Given the description of an element on the screen output the (x, y) to click on. 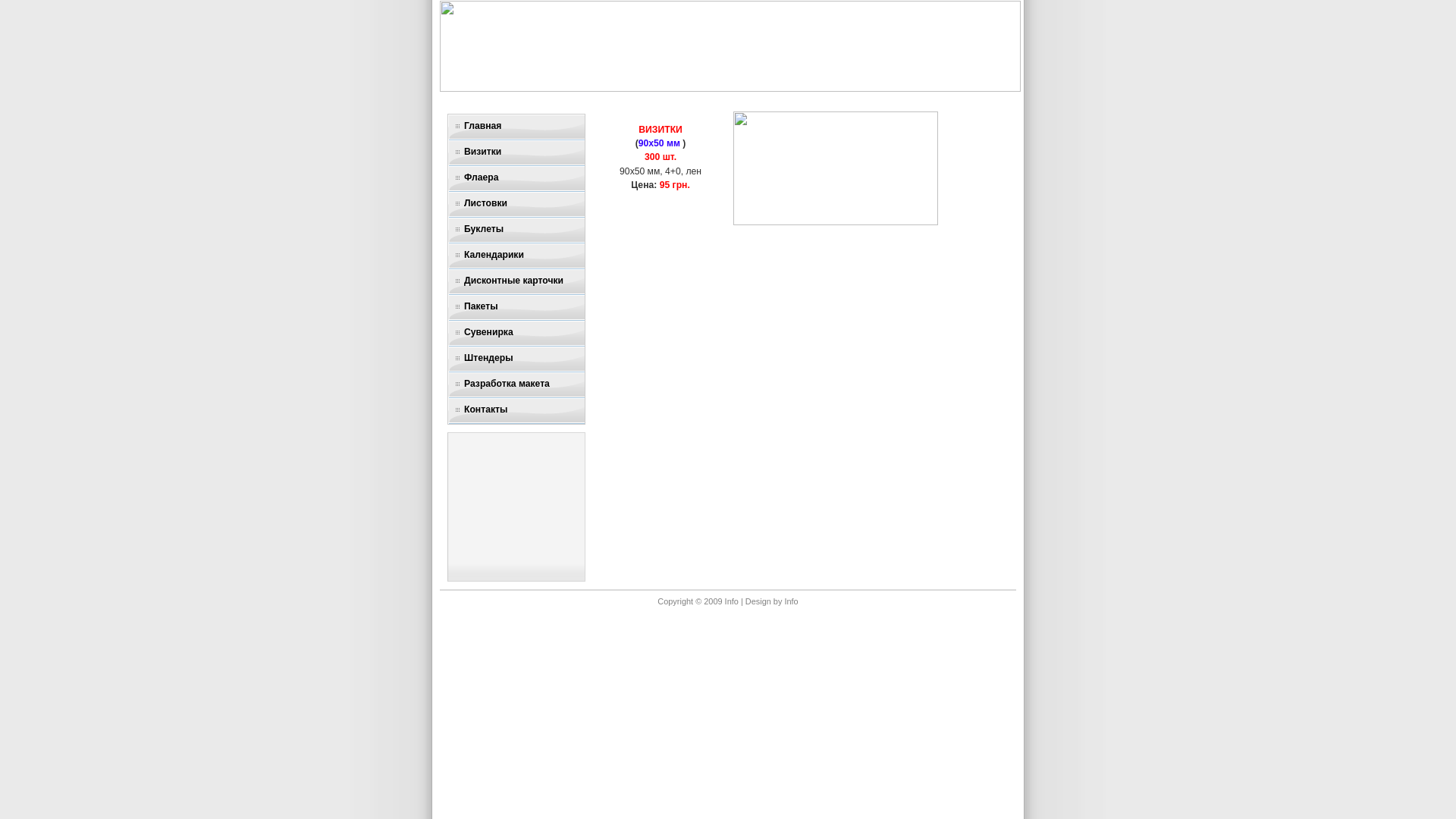
Info Element type: text (790, 600)
